Given the description of an element on the screen output the (x, y) to click on. 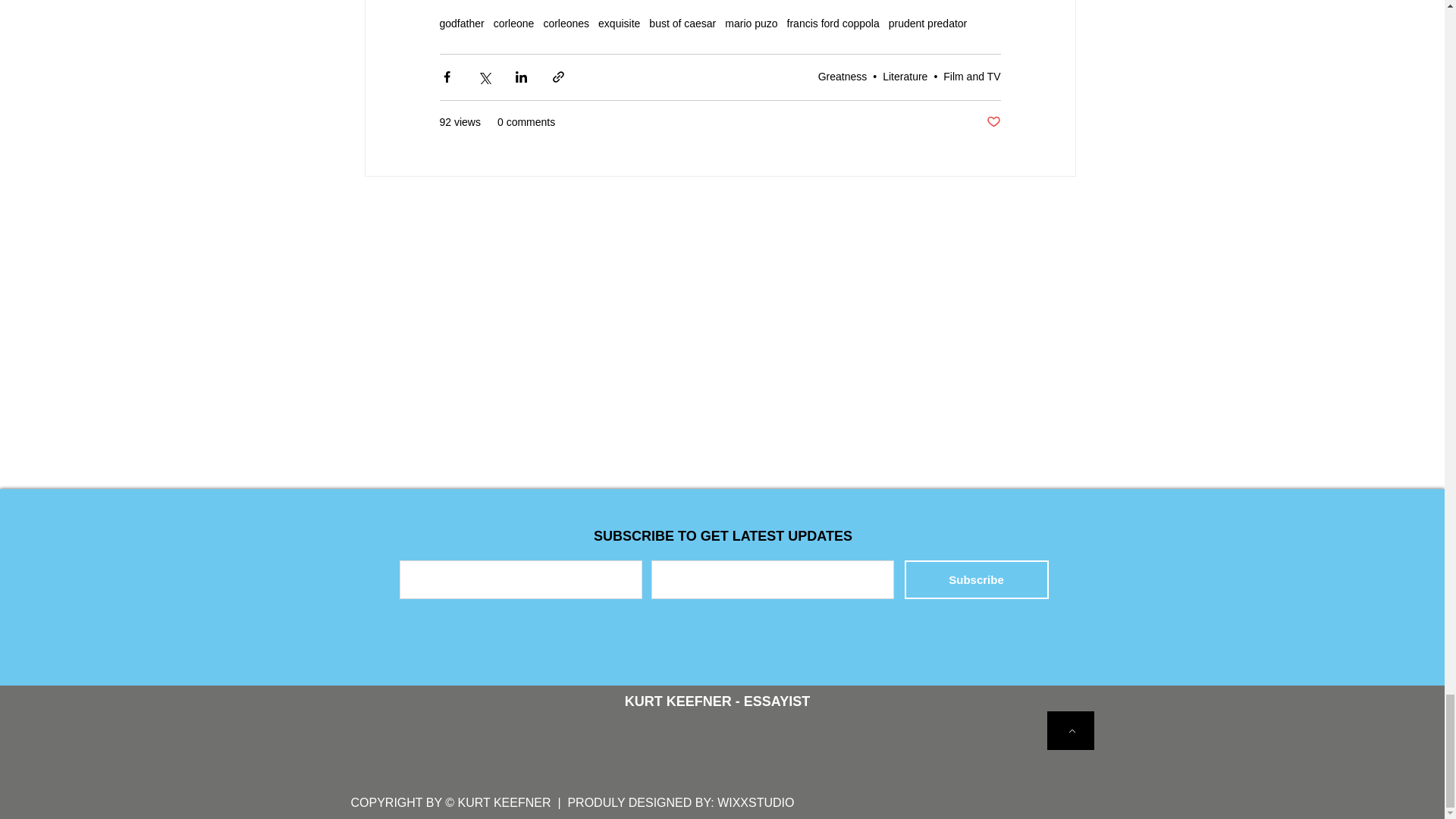
godfather (461, 23)
prudent predator (928, 23)
mario puzo (751, 23)
francis ford coppola (833, 23)
bust of caesar (682, 23)
corleone (513, 23)
corleones (566, 23)
exquisite (619, 23)
